Given the description of an element on the screen output the (x, y) to click on. 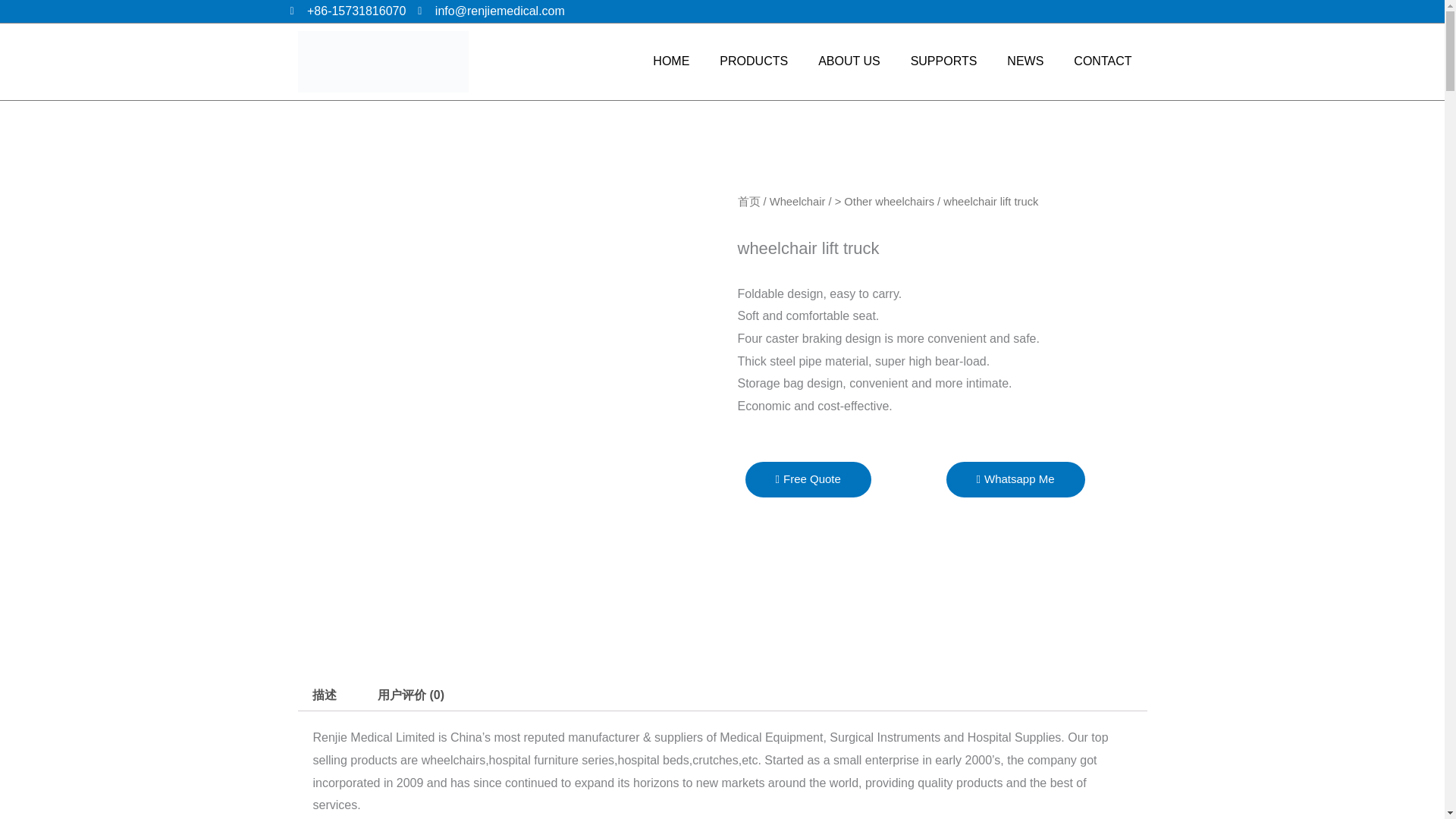
PRODUCTS (753, 61)
SUPPORTS (943, 61)
Free Quote (807, 479)
Whatsapp Me (1015, 479)
Wheelchair (797, 201)
NEWS (1024, 61)
HOME (670, 61)
ABOUT US (849, 61)
CONTACT (1102, 61)
